Given the description of an element on the screen output the (x, y) to click on. 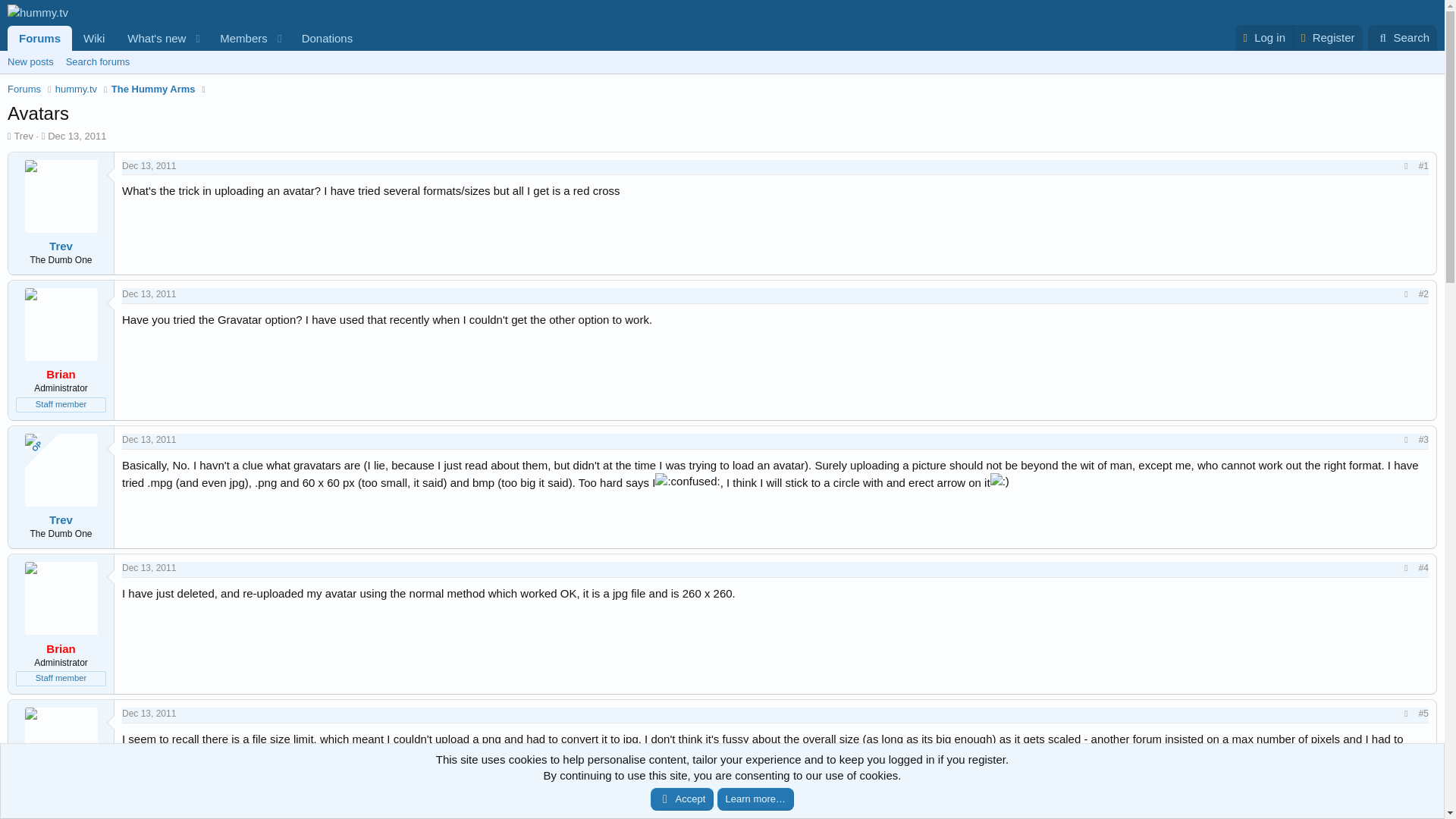
Confused    :confused: (687, 480)
What's new (185, 37)
Dec 13, 2011 (151, 37)
Log in (149, 165)
Register (1263, 37)
hummy.tv (1327, 37)
Wiki (76, 89)
